Given the description of an element on the screen output the (x, y) to click on. 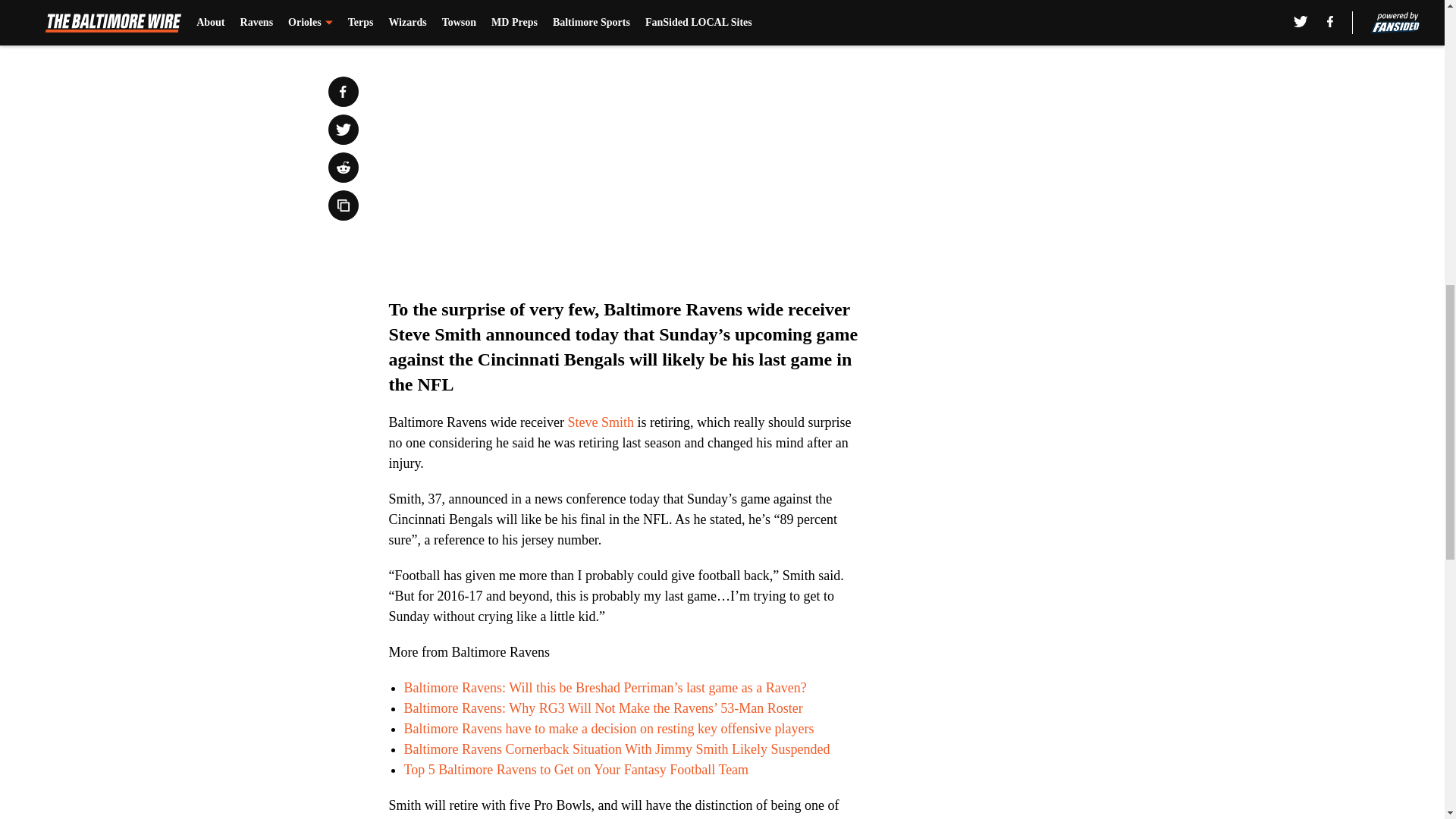
Top 5 Baltimore Ravens to Get on Your Fantasy Football Team (575, 769)
Steve Smith (600, 421)
